Given the description of an element on the screen output the (x, y) to click on. 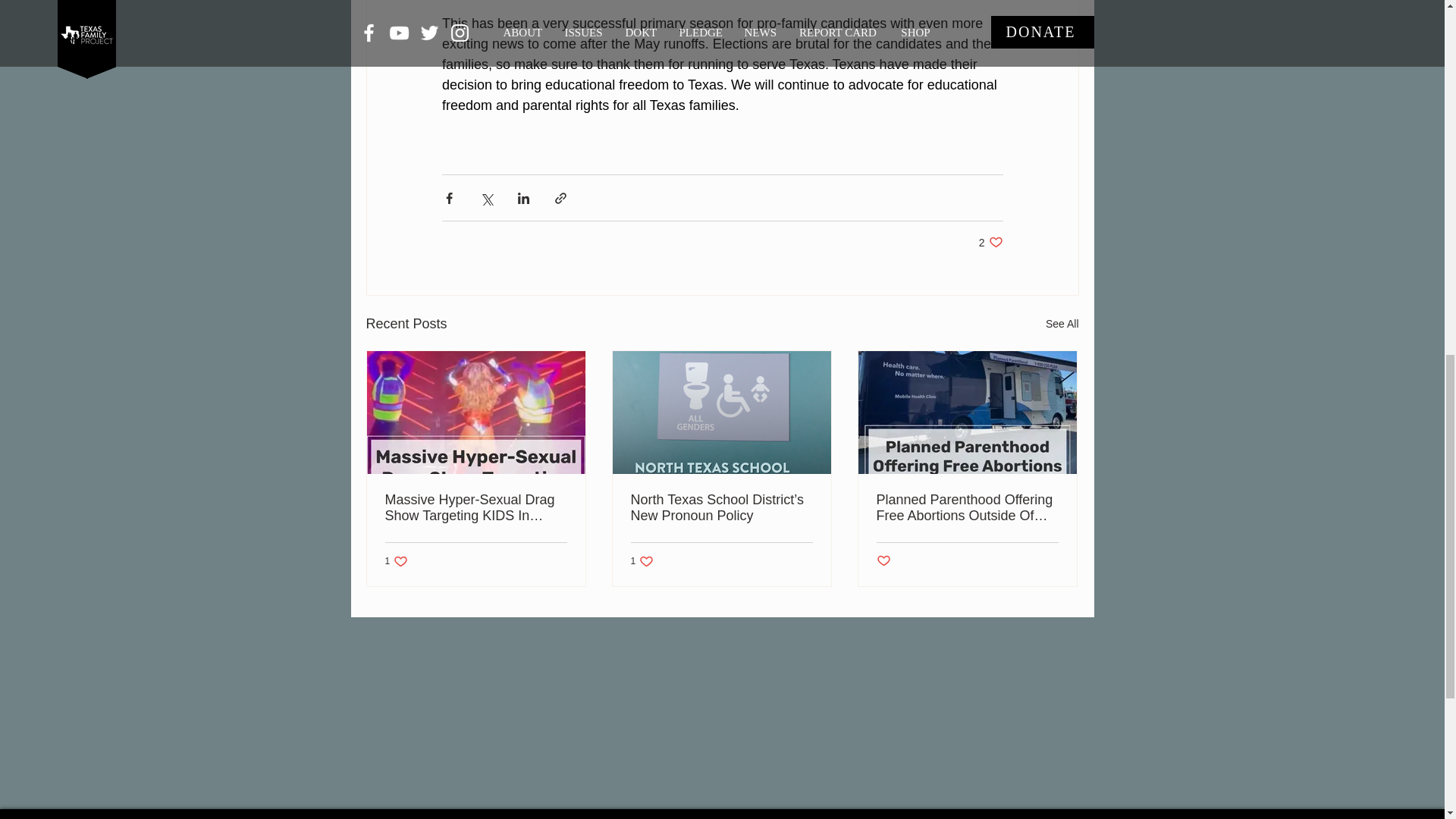
See All (1061, 323)
Planned Parenthood Offering Free Abortions Outside Of DNC (397, 560)
Massive Hyper-Sexual Drag Show Targeting KIDS In Dallas (641, 560)
Post not marked as liked (967, 508)
